Given the description of an element on the screen output the (x, y) to click on. 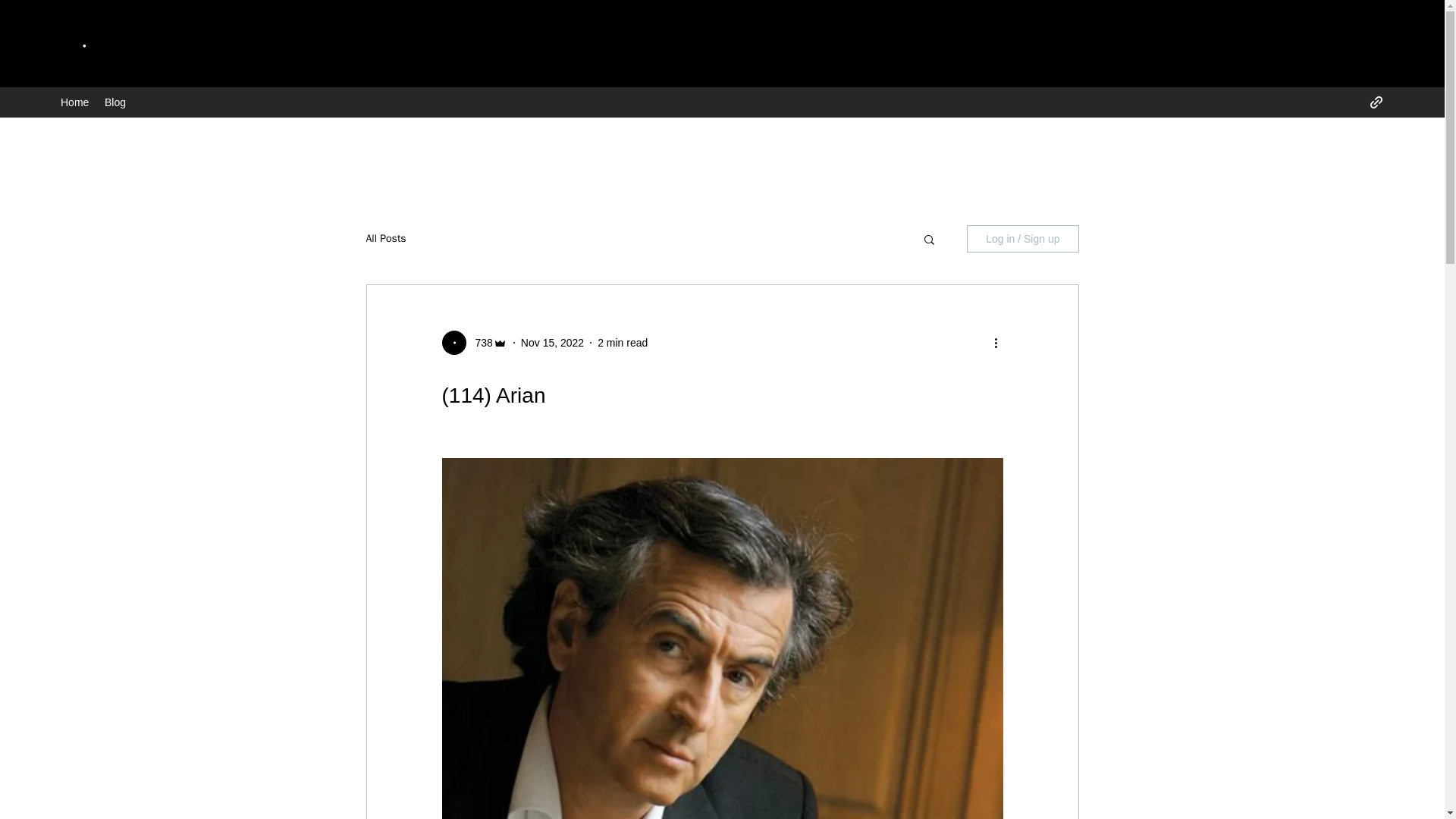
738 (478, 342)
2 min read (621, 342)
Home (74, 101)
Nov 15, 2022 (552, 342)
All Posts (385, 238)
Blog (115, 101)
